Given the description of an element on the screen output the (x, y) to click on. 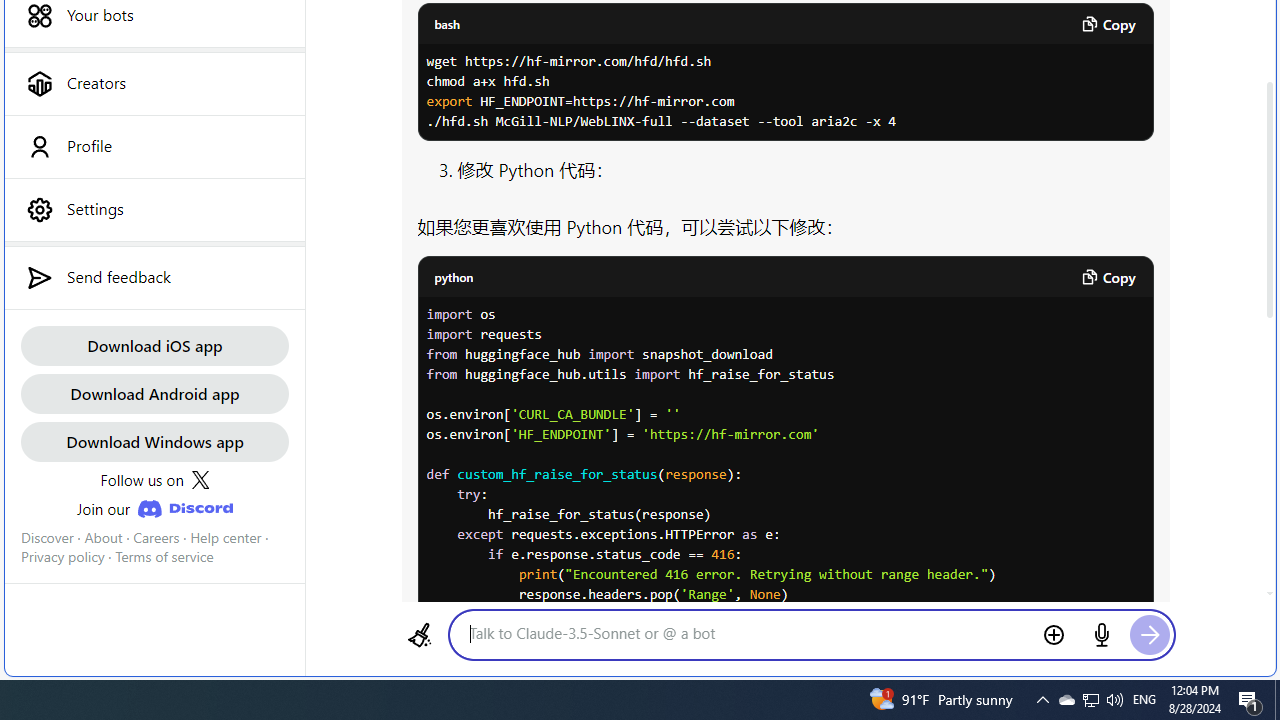
Help center (225, 537)
Download Android app (154, 392)
Profile (154, 146)
Creators (154, 83)
Careers (156, 537)
Talk to Claude-3.5-Sonnet or @ a bot (747, 633)
Class: FollowTwitterLink_twitterIconBlack__SS_7V (199, 480)
Follow us on (154, 479)
Privacy policy (62, 557)
Join our (154, 508)
Terms of service (164, 557)
Class: JoinDiscordLink_discordIcon__Xw13A (184, 509)
Settings (154, 209)
